Given the description of an element on the screen output the (x, y) to click on. 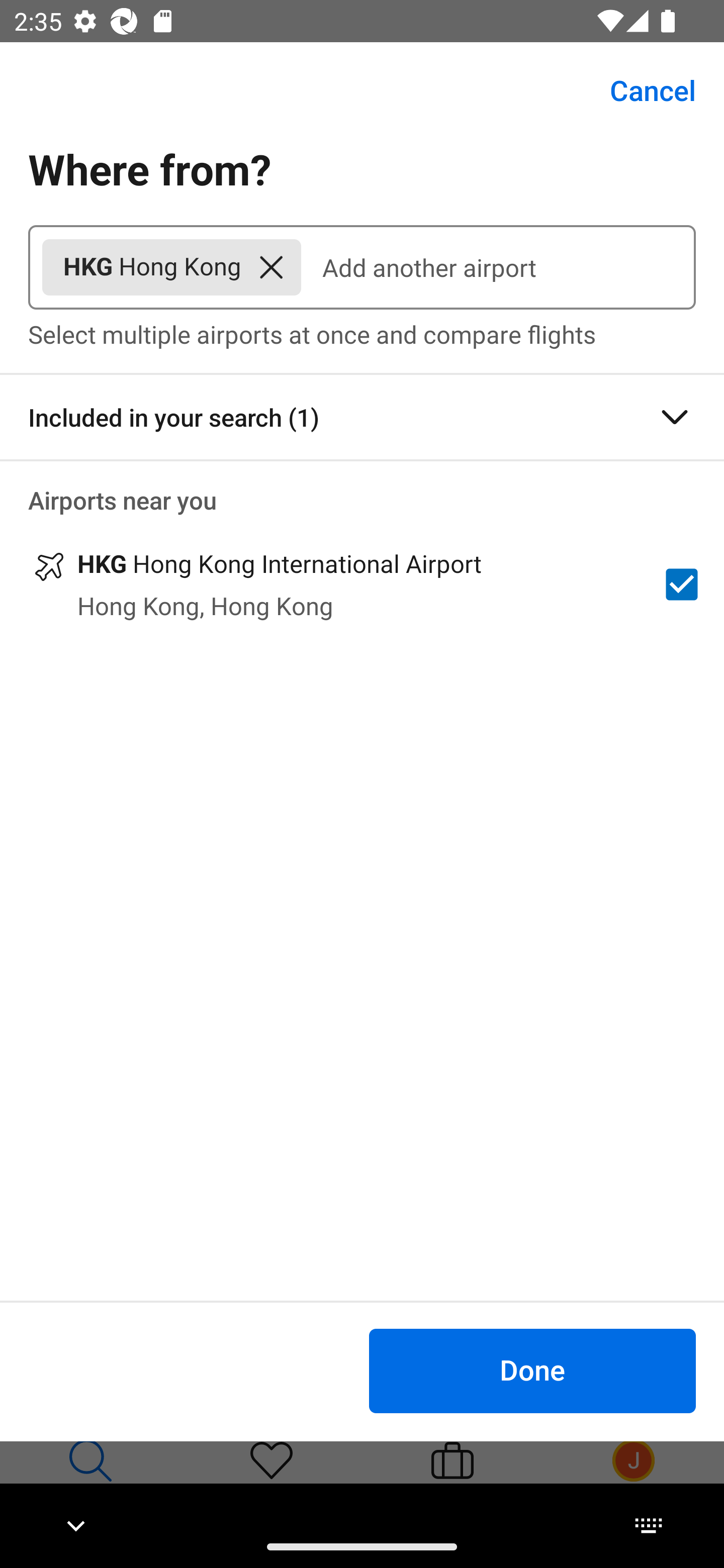
Cancel (641, 90)
Add another airport (498, 266)
HKG Hong Kong Remove HKG Hong Kong (171, 266)
Included in your search (1) (362, 416)
Done (532, 1370)
